Given the description of an element on the screen output the (x, y) to click on. 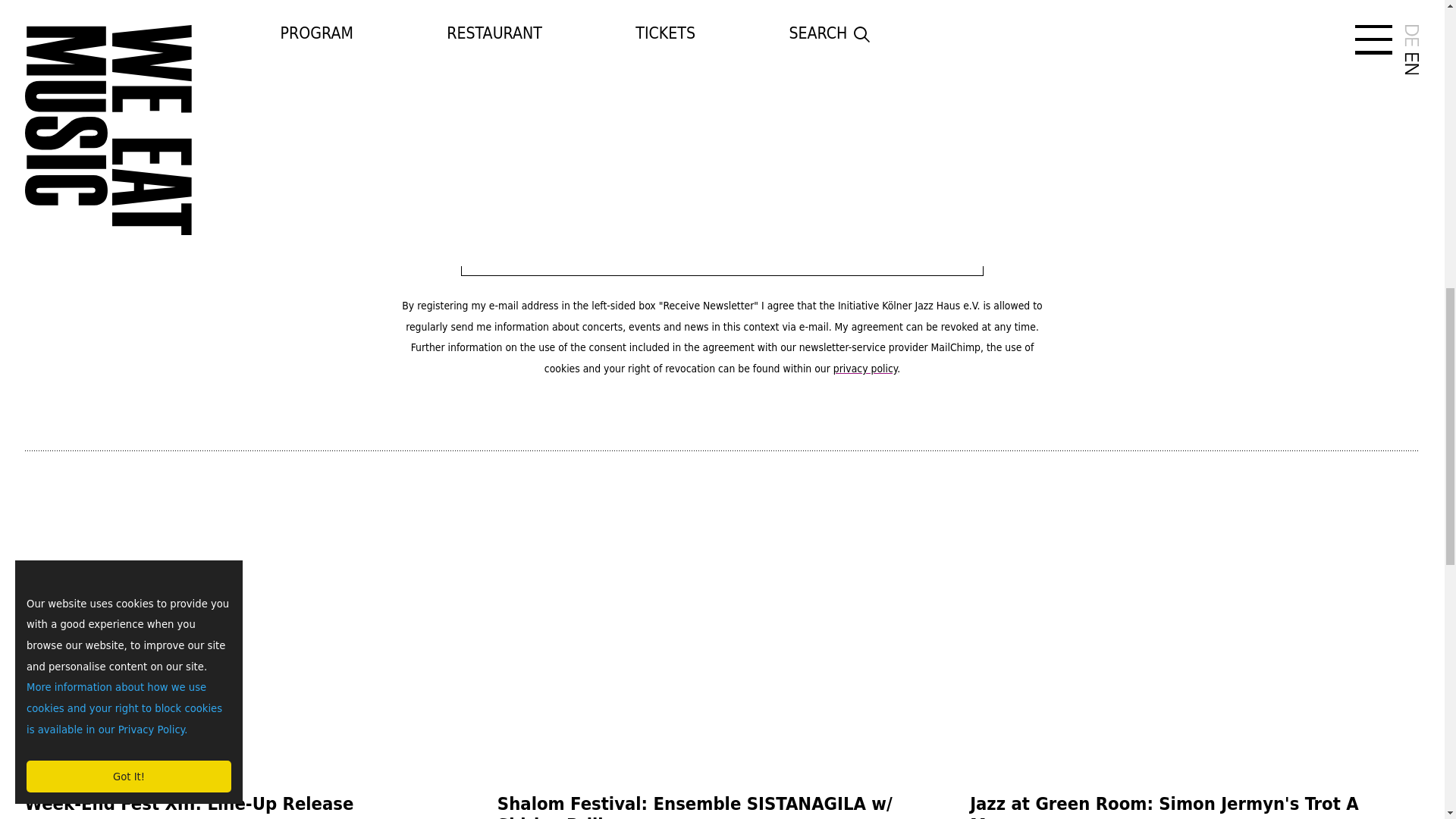
Download iCal-File (1253, 52)
privacy policy (864, 368)
